Given the description of an element on the screen output the (x, y) to click on. 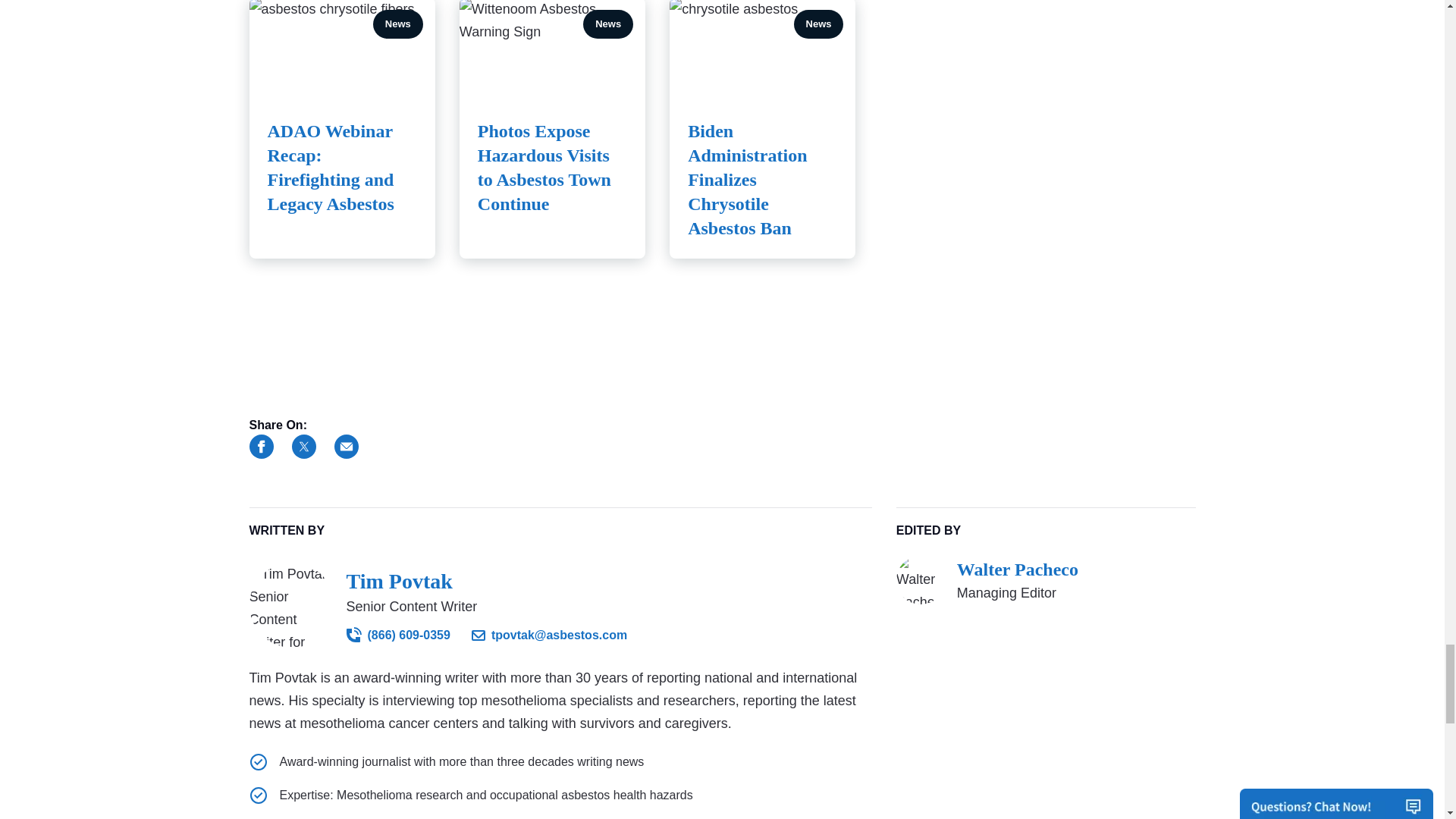
Share this news on Twitter (303, 446)
Email (345, 446)
Share this news on Facebook (260, 446)
